Given the description of an element on the screen output the (x, y) to click on. 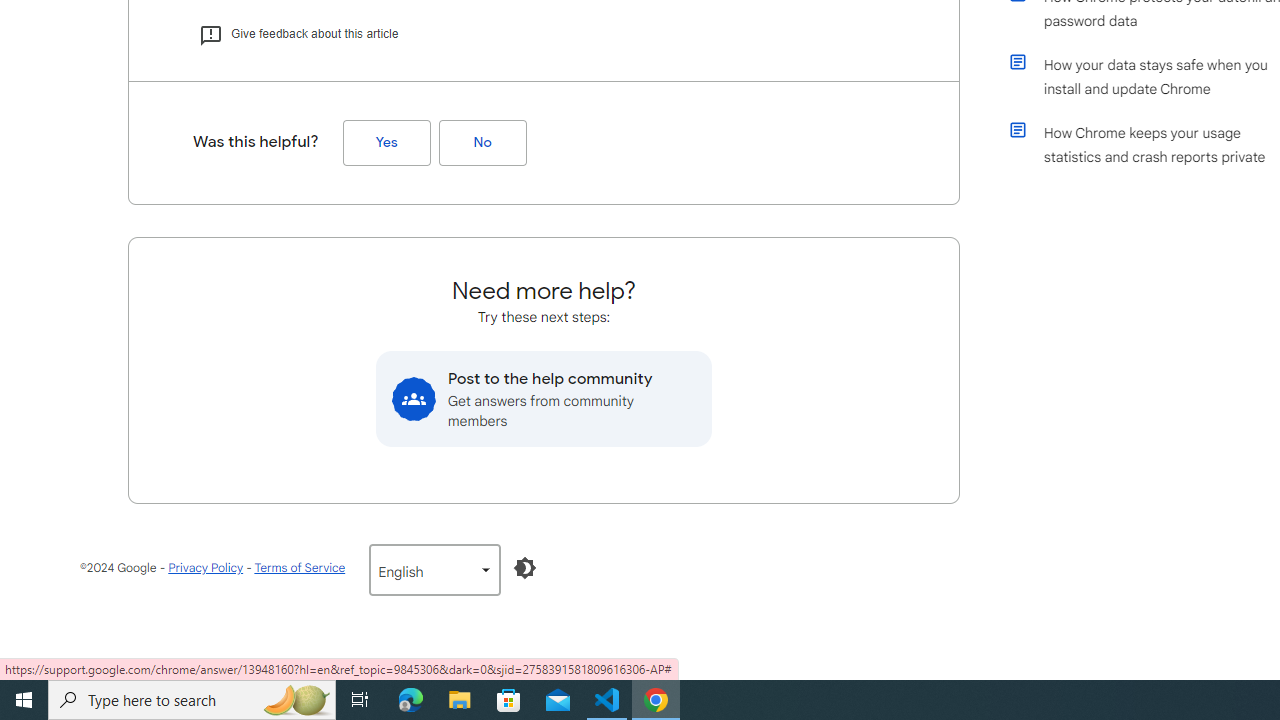
No (Was this helpful?) (482, 143)
Enable Dark Mode (525, 567)
Give feedback about this article (298, 33)
Yes (Was this helpful?) (386, 143)
